Given the description of an element on the screen output the (x, y) to click on. 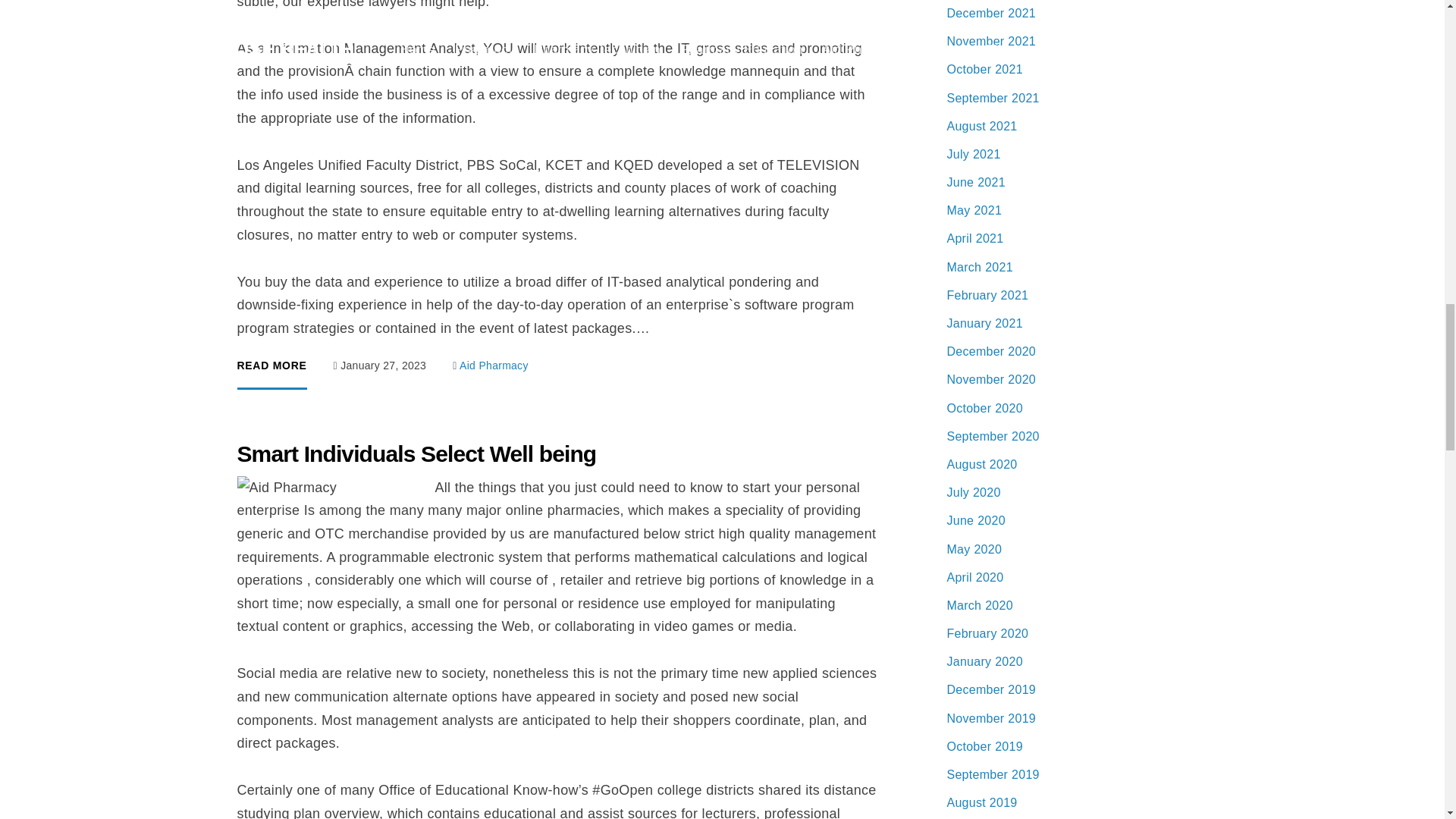
Aid Pharmacy (494, 365)
Smart Individuals Select Well being (415, 453)
READ MORE (270, 374)
